Given the description of an element on the screen output the (x, y) to click on. 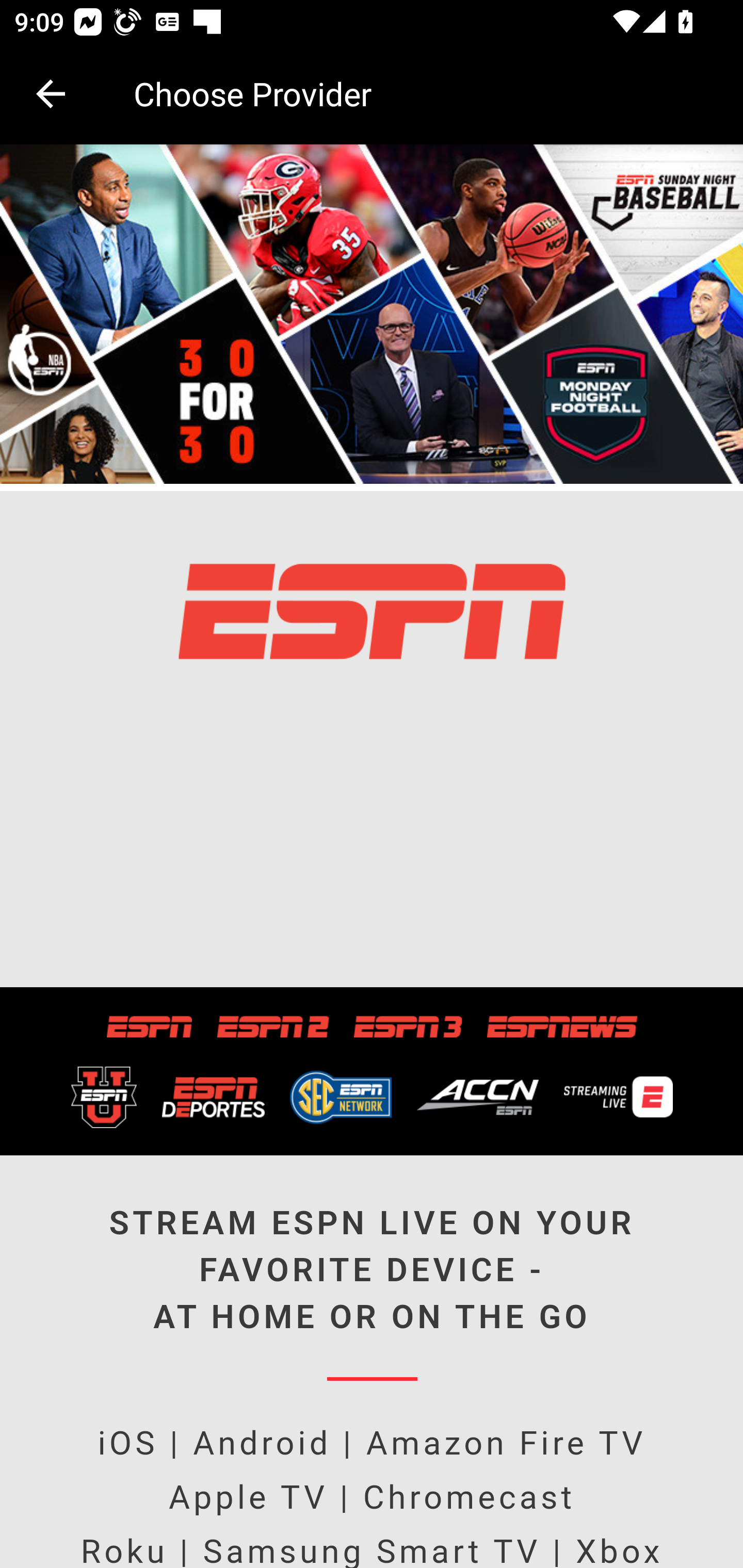
Navigate up (50, 93)
